Given the description of an element on the screen output the (x, y) to click on. 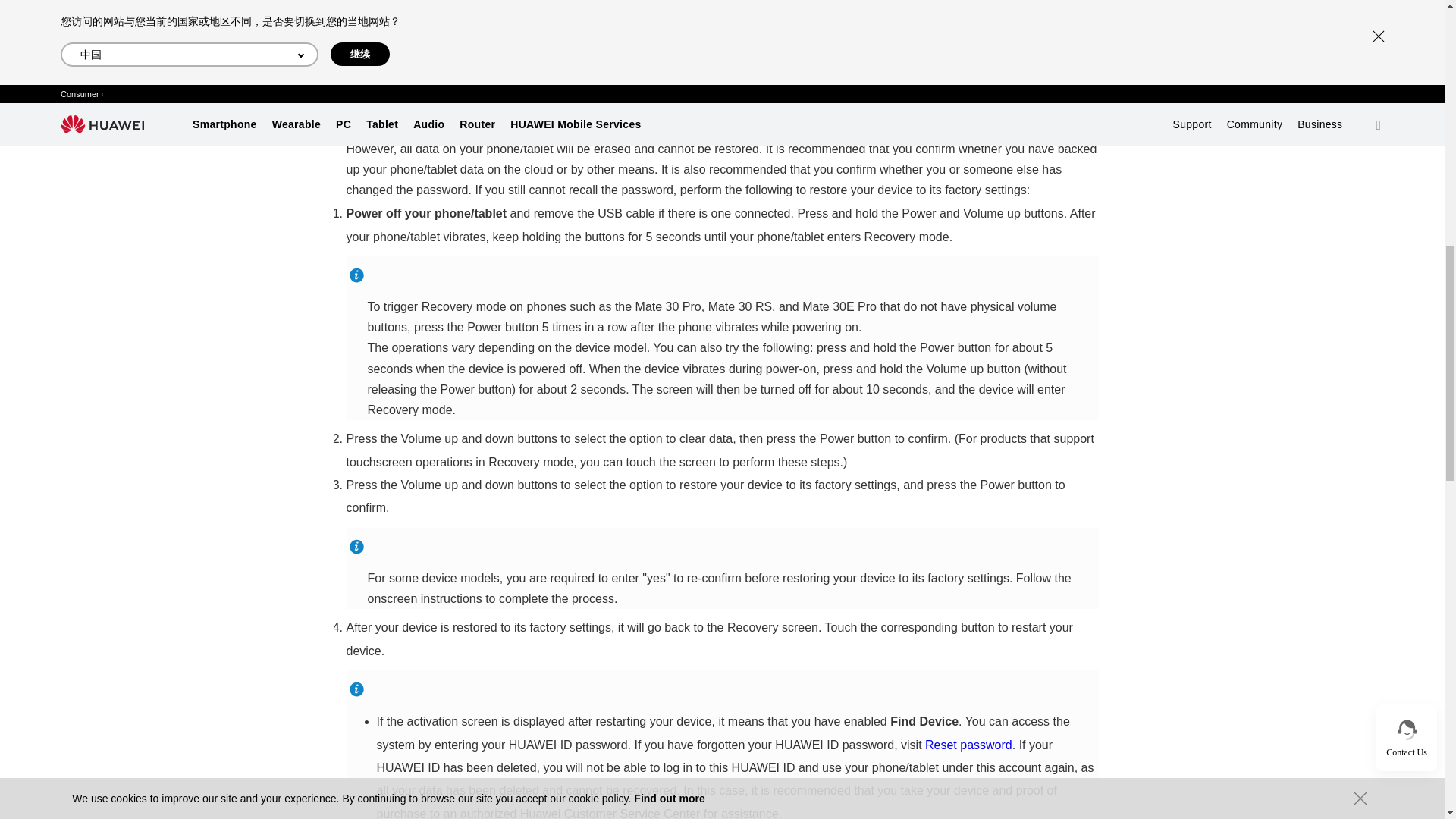
Reset password (967, 744)
